Given the description of an element on the screen output the (x, y) to click on. 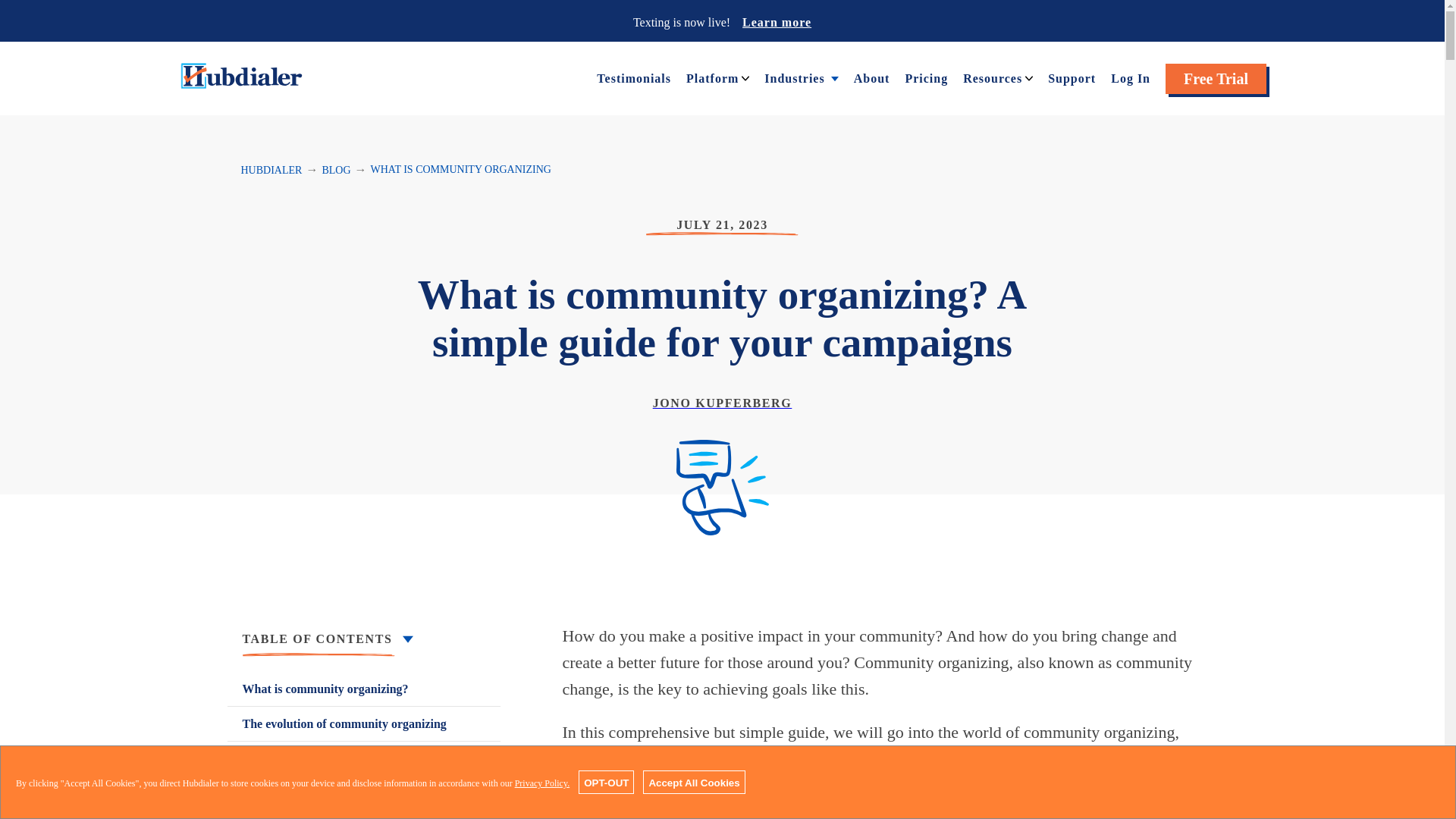
Platform (711, 77)
Support (1072, 77)
Privacy Policy. (542, 783)
Free Trial (1216, 78)
Learn more (776, 21)
Accept All Cookies (693, 781)
What is the first step in community organizing? (363, 768)
Pricing (925, 77)
Log In (1130, 77)
Testimonials (633, 77)
Industries (794, 77)
Resources (992, 77)
OPT-OUT (605, 781)
What are the other steps in successful community organizing? (363, 807)
The evolution of community organizing (363, 723)
